Given the description of an element on the screen output the (x, y) to click on. 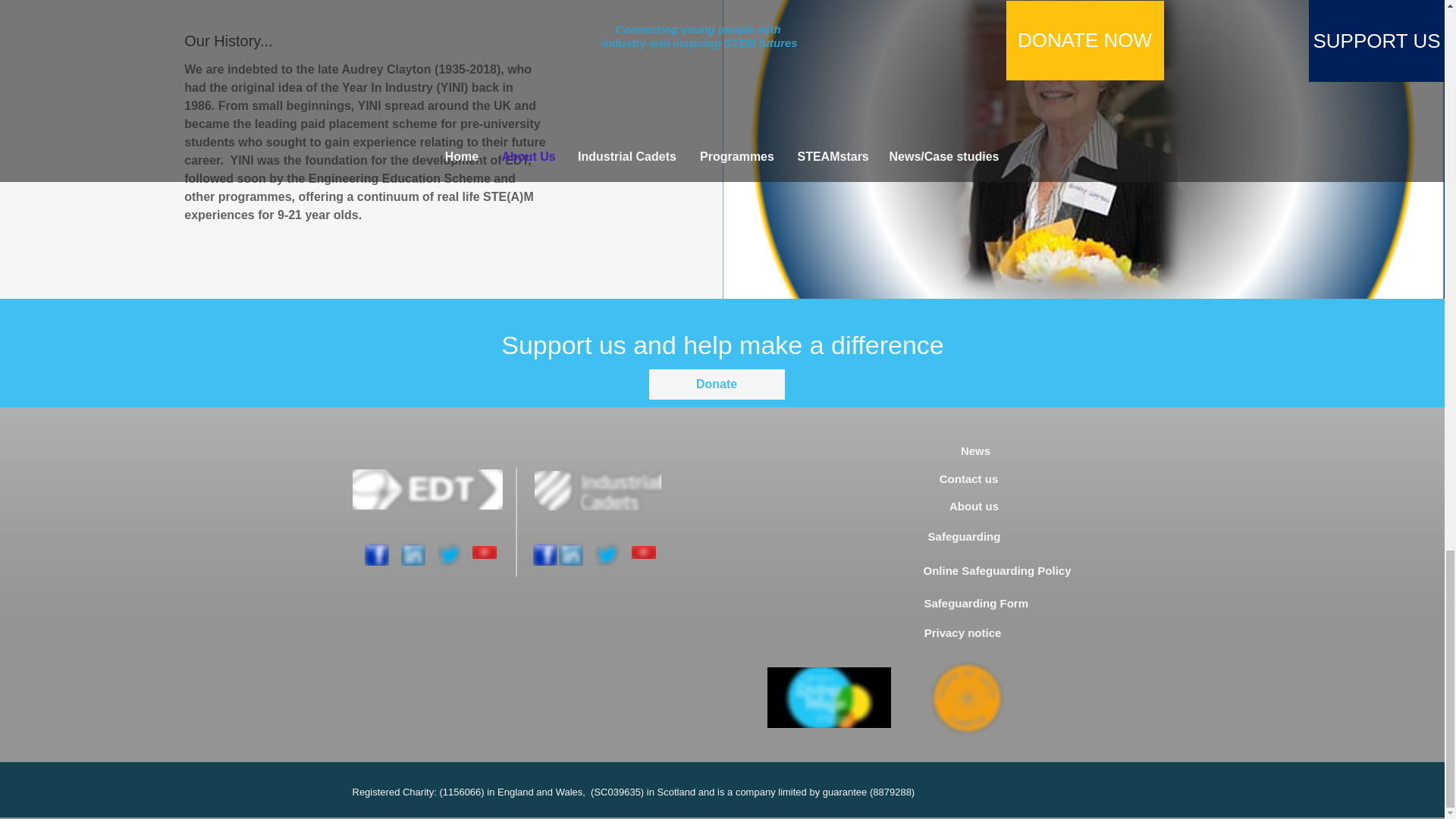
About us (973, 505)
Safeguarding Form (975, 602)
Contact us (968, 479)
Donate (716, 384)
Safeguarding (963, 536)
Online Safeguarding Policy (997, 570)
Privacy notice (962, 632)
News (975, 450)
